Given the description of an element on the screen output the (x, y) to click on. 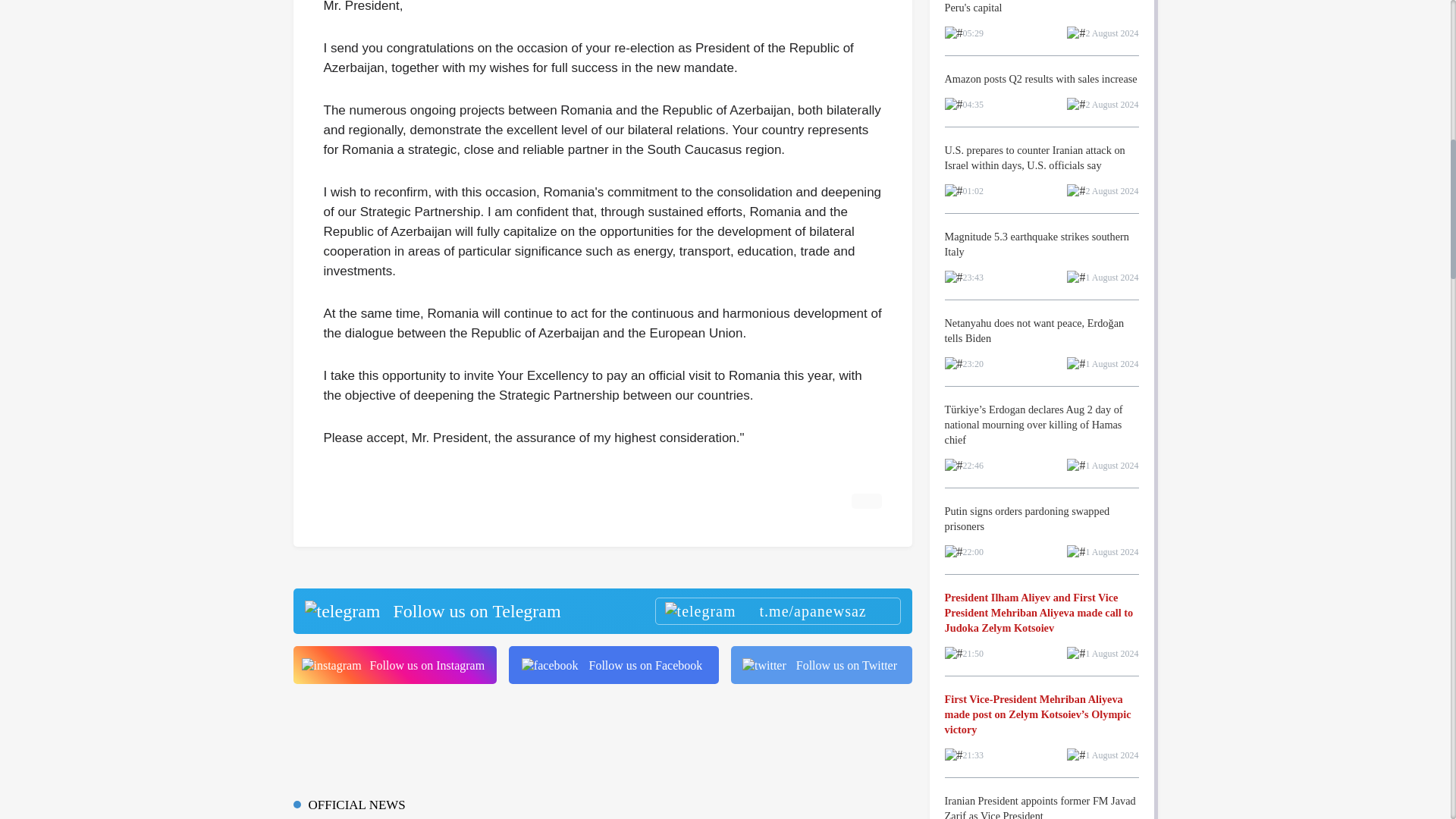
Follow us on Facebook (613, 664)
Follow us on Instagram (394, 664)
Follow us on Twitter (821, 664)
Follow us on Telegram (601, 610)
